Given the description of an element on the screen output the (x, y) to click on. 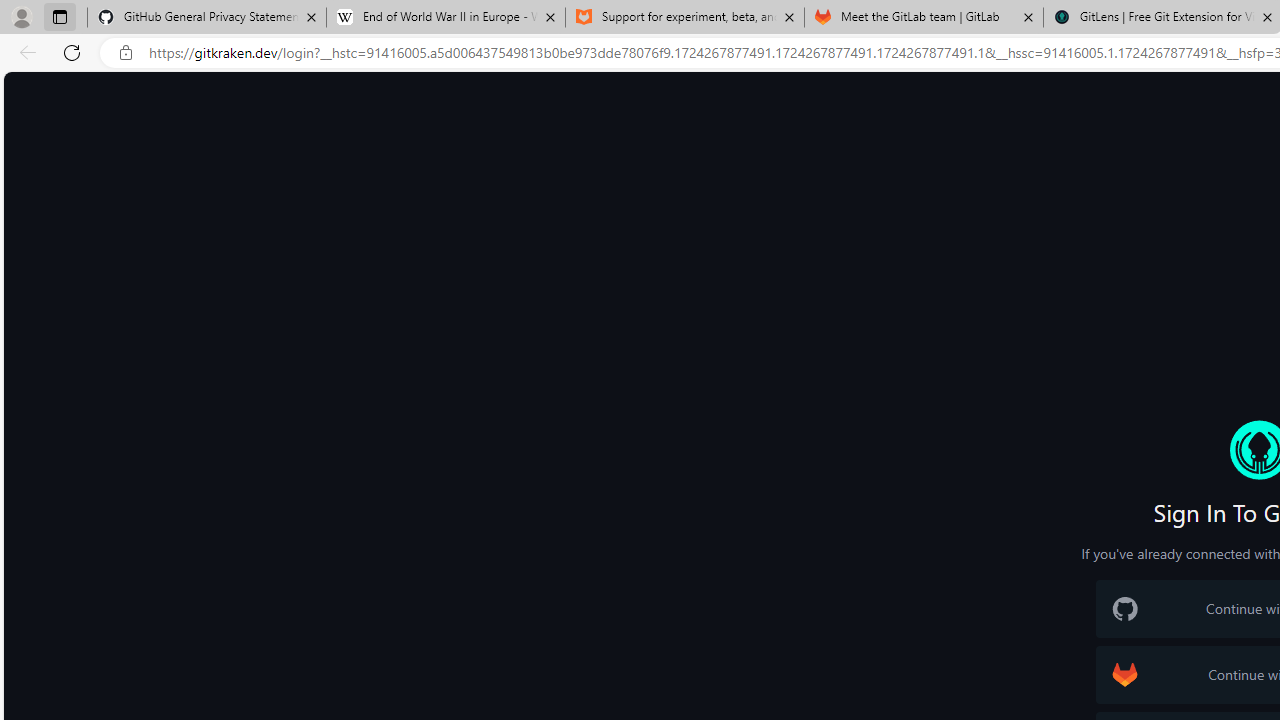
GitHub Logo (1124, 609)
End of World War II in Europe - Wikipedia (445, 17)
GitHub General Privacy Statement - GitHub Docs (207, 17)
Meet the GitLab team | GitLab (924, 17)
GitLab Logo (1124, 674)
